Given the description of an element on the screen output the (x, y) to click on. 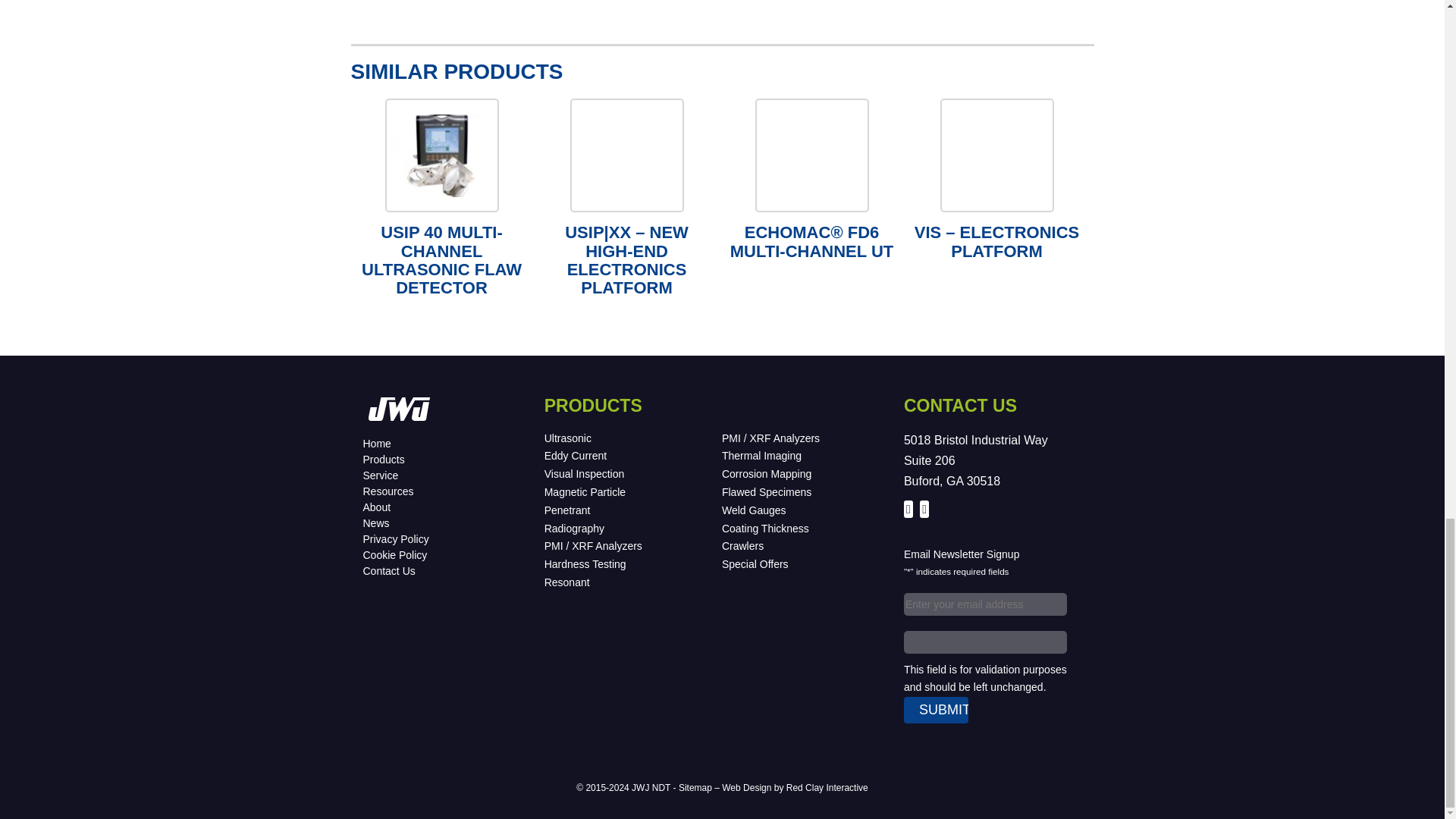
Submit (936, 709)
